Given the description of an element on the screen output the (x, y) to click on. 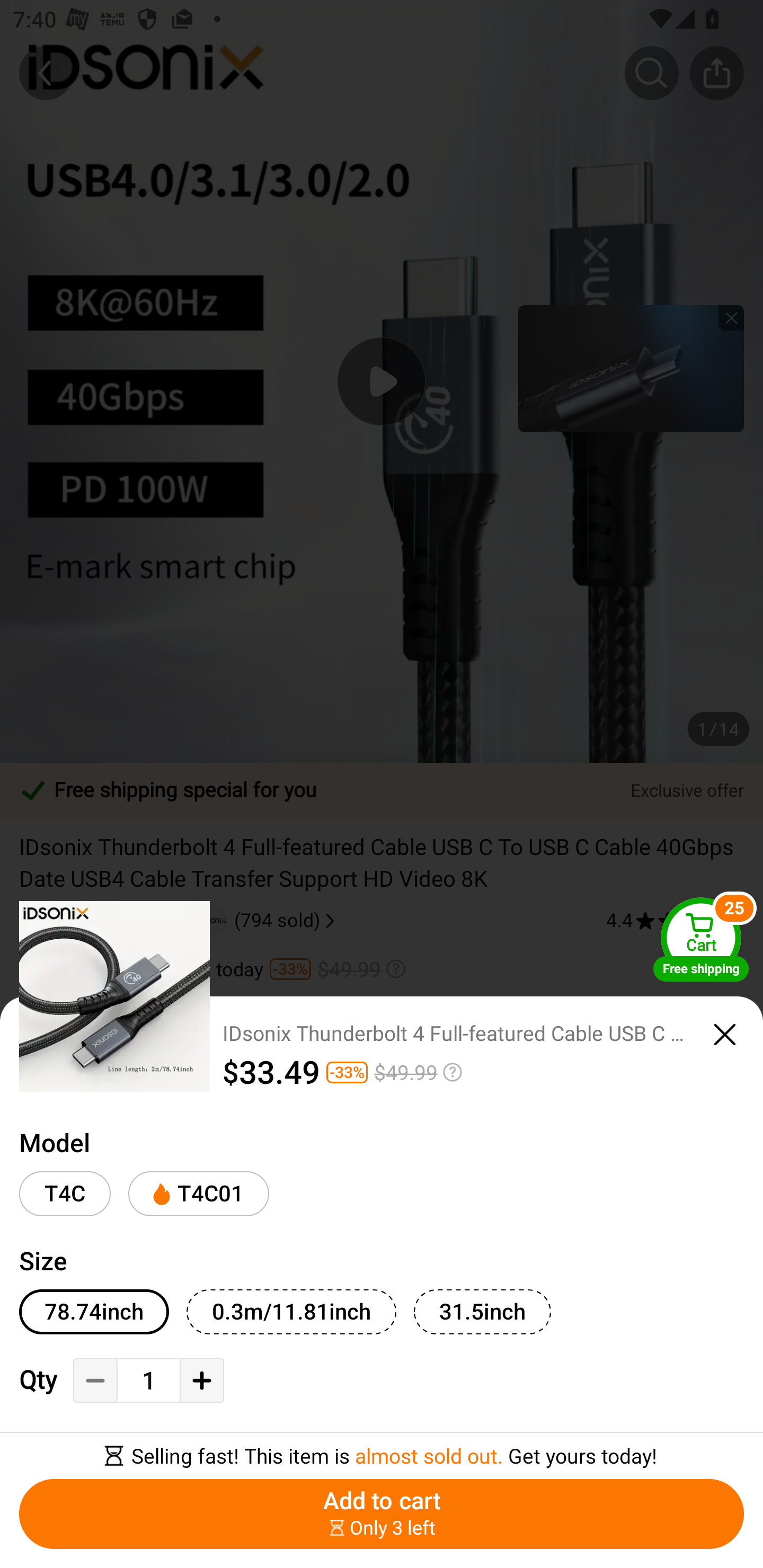
Cart Free shipping Cart (701, 939)
close (724, 1034)
 T4C (64, 1193)
 T4C01 (198, 1193)
 78.74inch (94, 1311)
 0.3m/11.81inch (290, 1311)
 31.5inch (481, 1311)
Decrease Quantity Button (95, 1380)
Add Quantity Button (201, 1380)
1 (148, 1381)
Add to cart ￼￼Only 3 left (381, 1513)
